Given the description of an element on the screen output the (x, y) to click on. 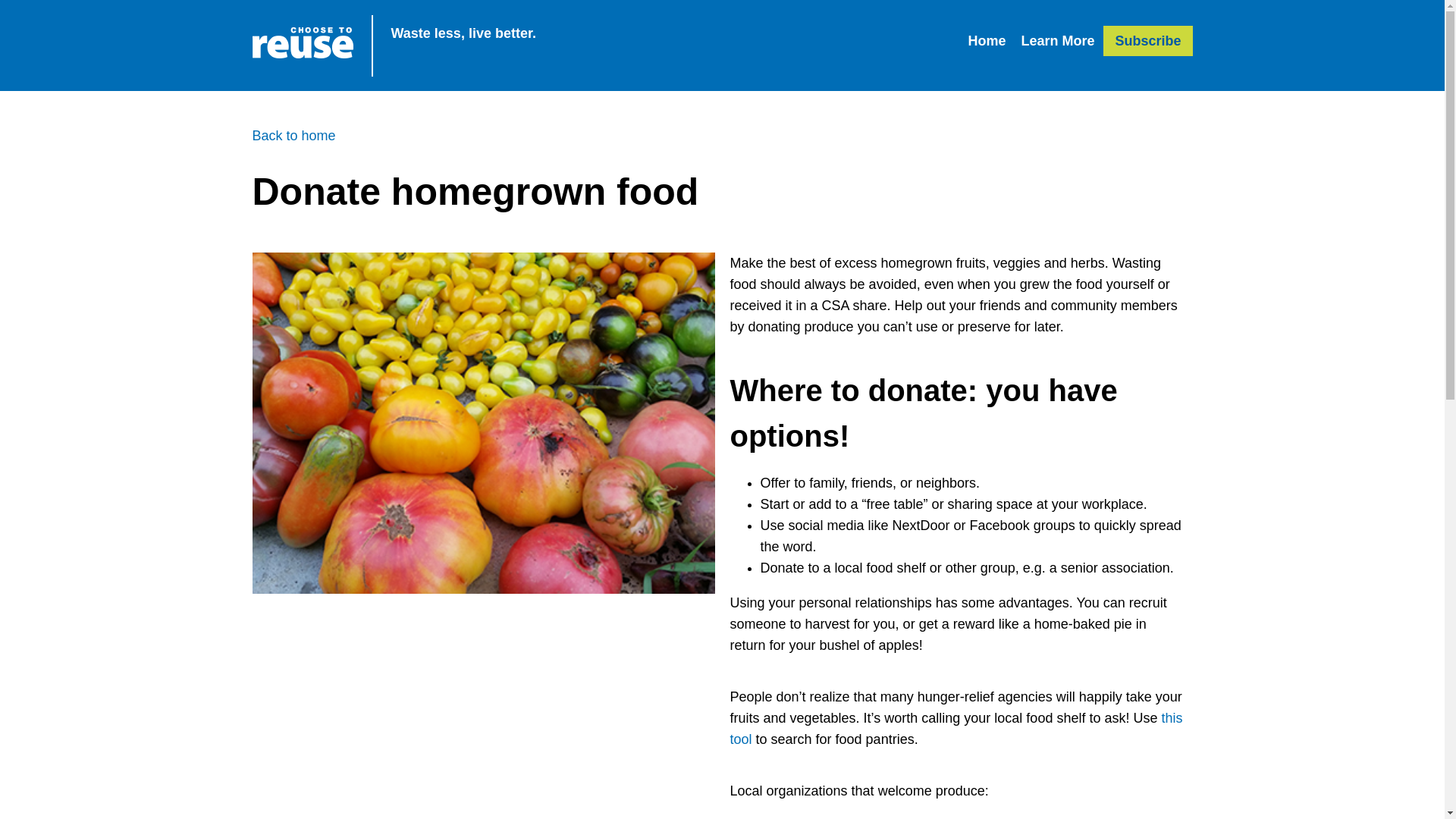
Home (986, 40)
Back to home (292, 135)
Learn More (1056, 40)
this tool (955, 728)
Subscribe (1147, 40)
